Given the description of an element on the screen output the (x, y) to click on. 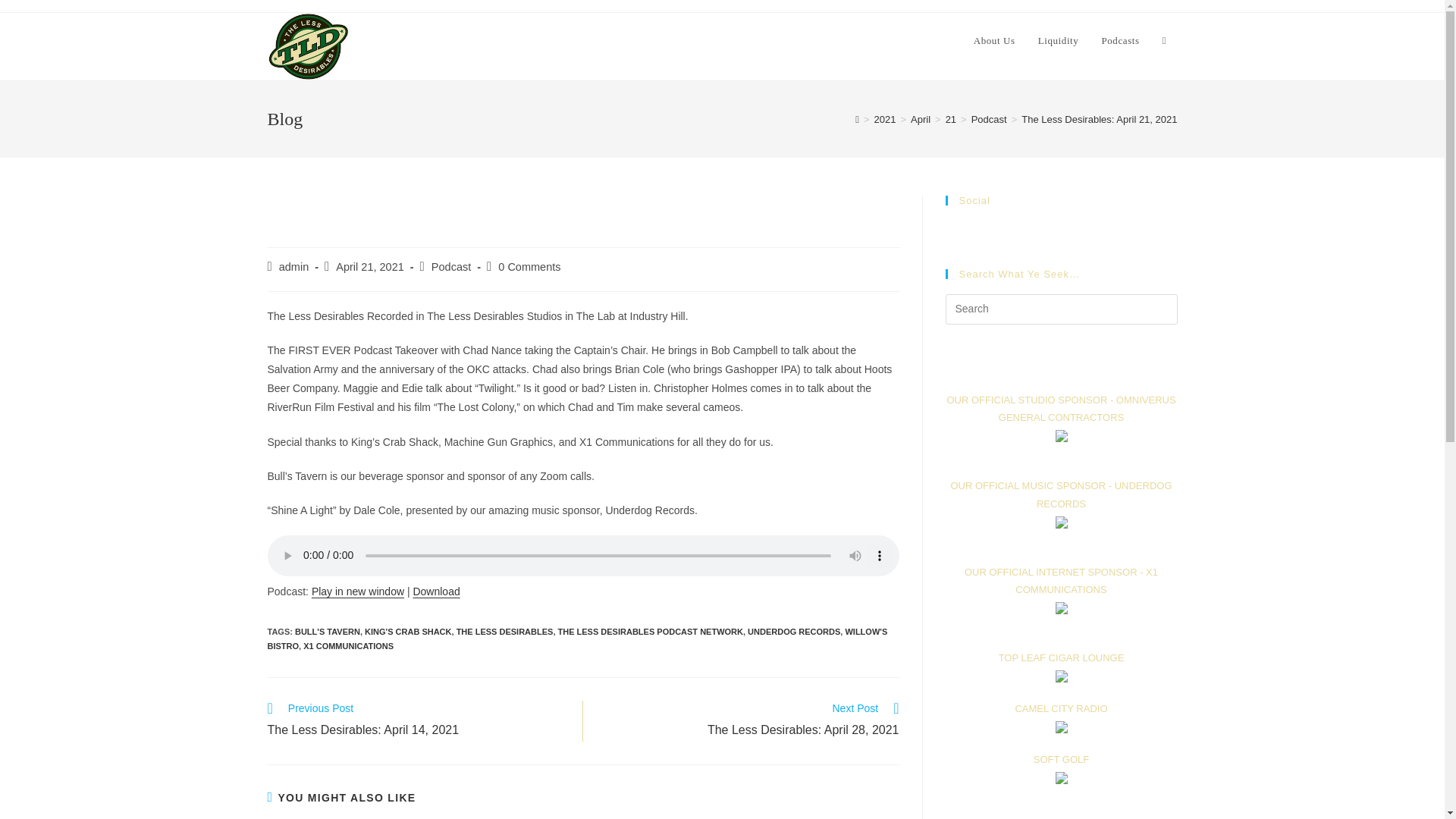
21 (950, 119)
About Us (994, 40)
Play in new window (357, 591)
Download (436, 591)
X1 COMMUNICATIONS (748, 721)
admin (347, 645)
THE LESS DESIRABLES (293, 266)
UNDERDOG RECORDS (505, 631)
